Given the description of an element on the screen output the (x, y) to click on. 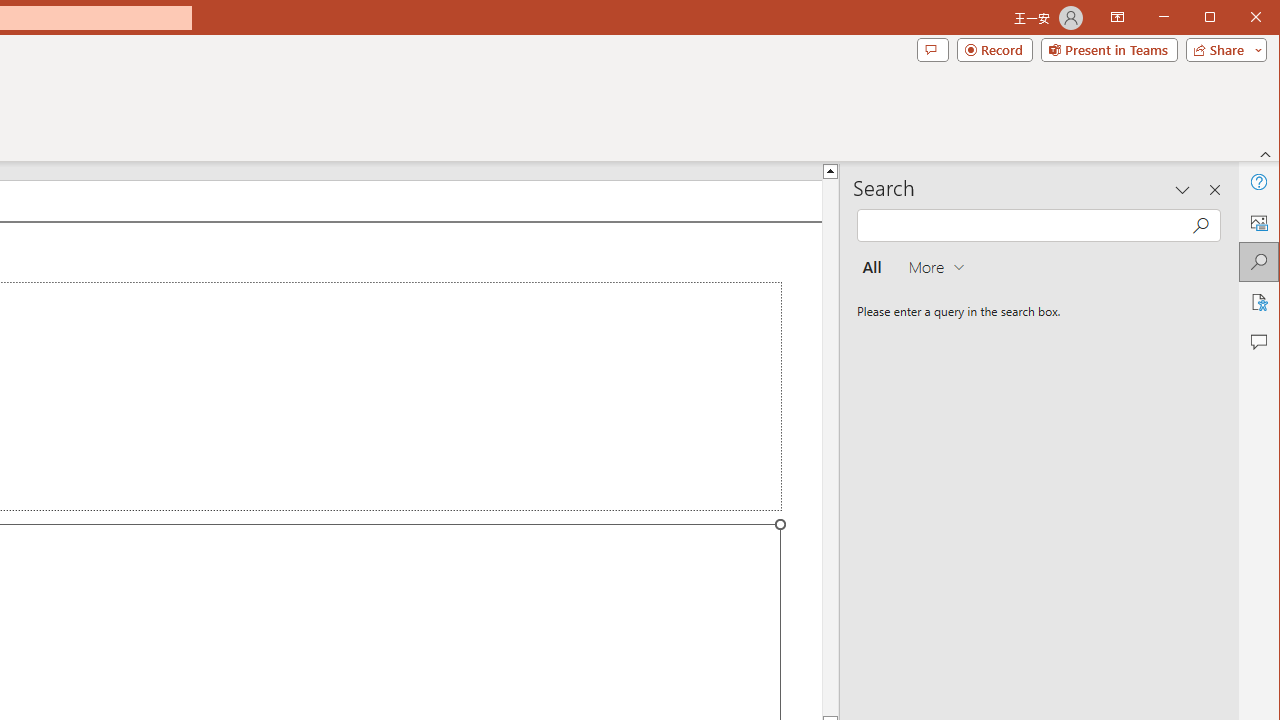
Line up (829, 170)
Task Pane Options (1183, 189)
